Given the description of an element on the screen output the (x, y) to click on. 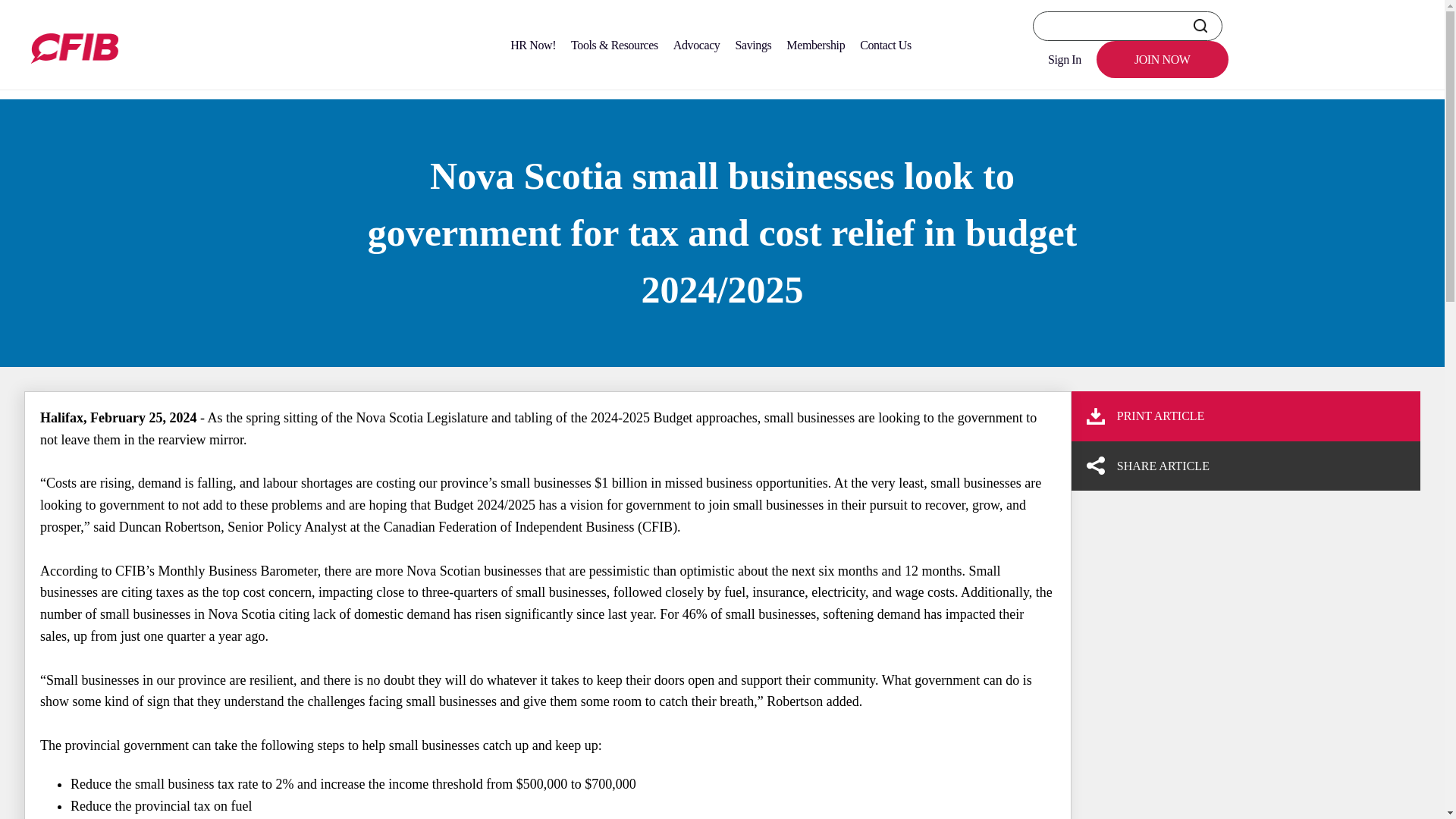
HR Now! (532, 44)
Search (1200, 25)
PRINT ARTICLE (1239, 415)
Search (1200, 25)
Savings (752, 44)
Sign In (1064, 58)
Contact Us (884, 44)
Membership (814, 44)
Home (38, 80)
Advocacy (696, 44)
